Given the description of an element on the screen output the (x, y) to click on. 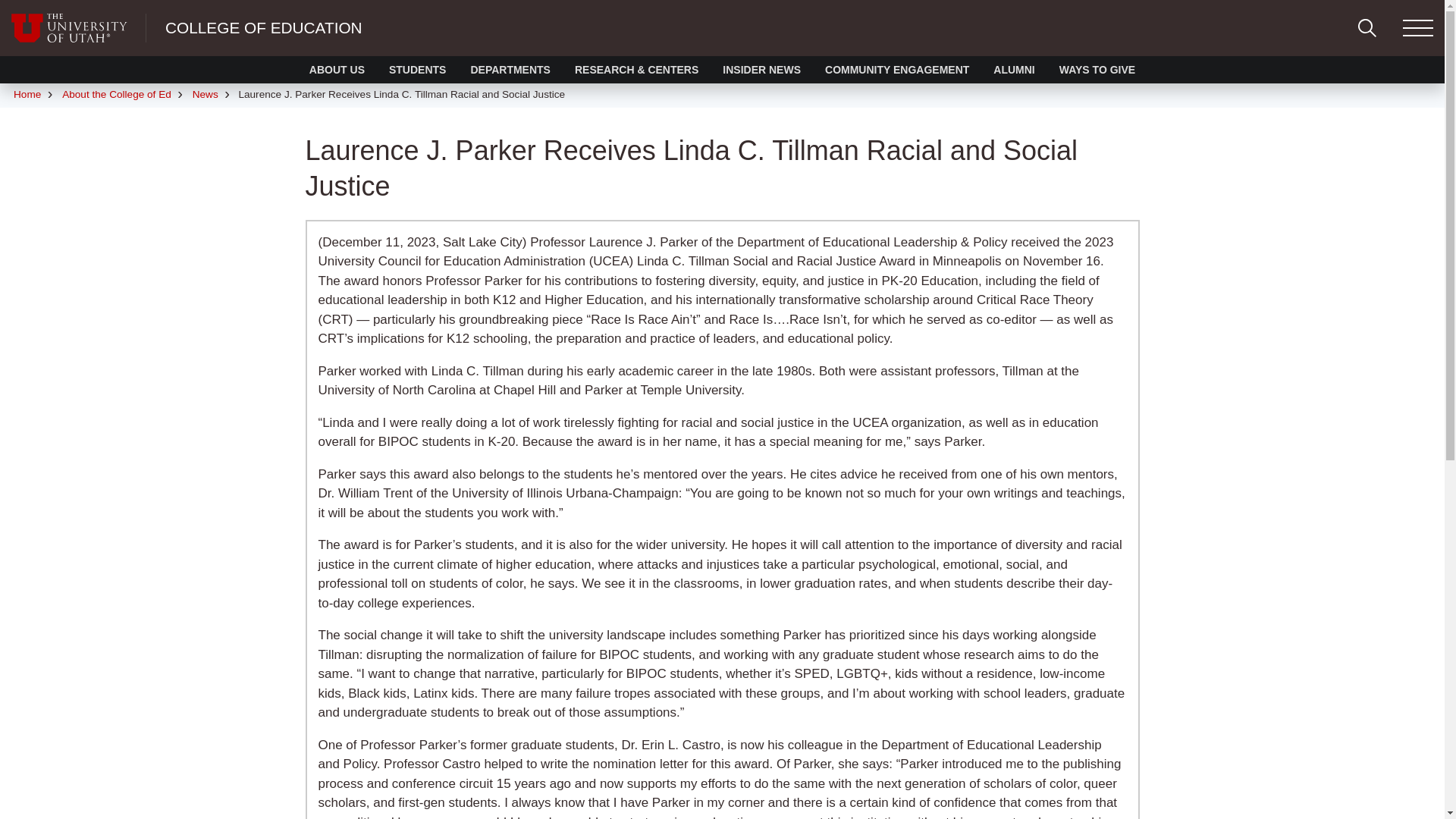
DEPARTMENTS (510, 69)
COLLEGE OF EDUCATION (263, 27)
ABOUT US (336, 69)
STUDENTS (417, 69)
